Given the description of an element on the screen output the (x, y) to click on. 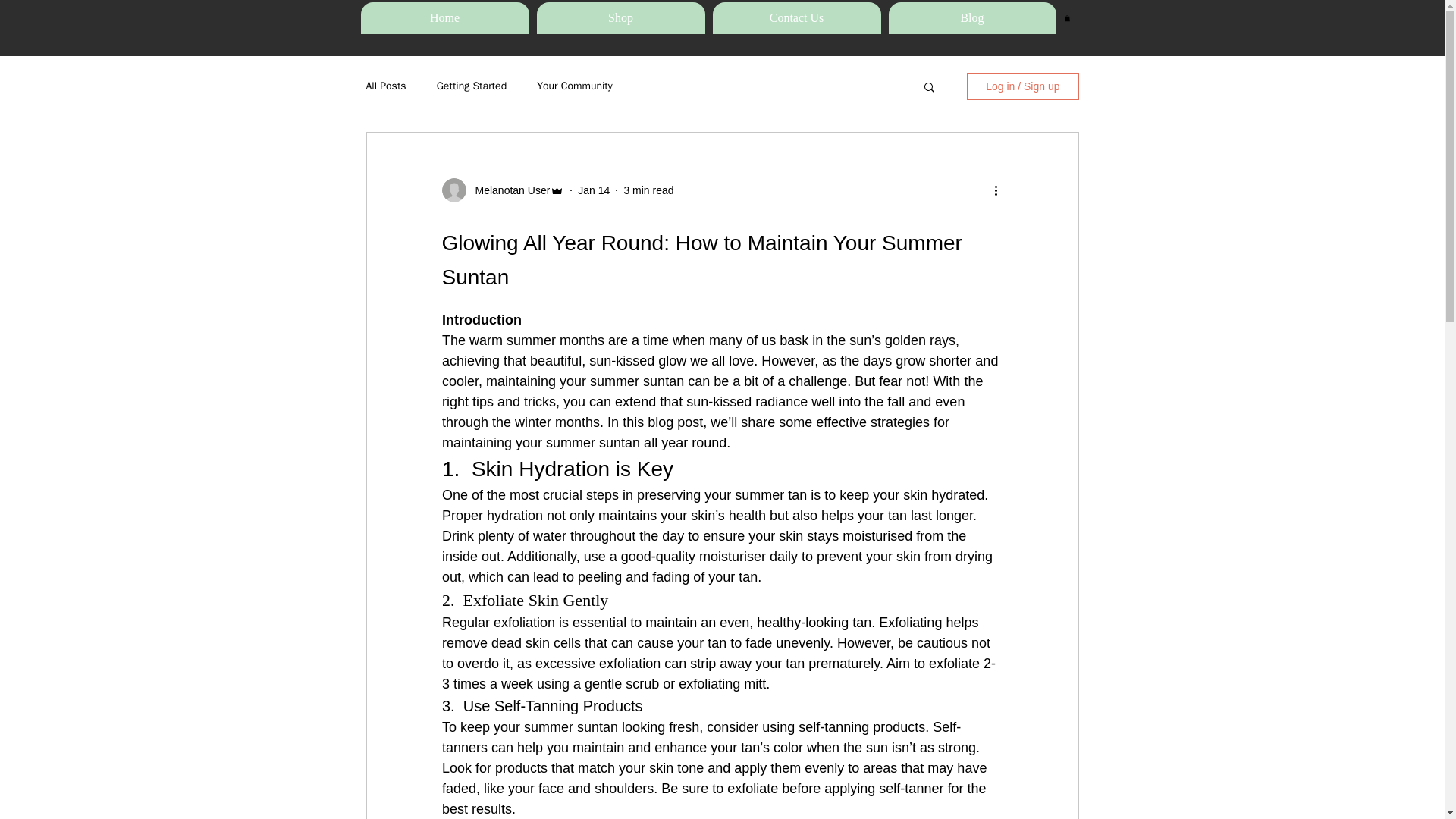
All Posts (385, 86)
Home (445, 18)
Contact Us (796, 18)
Melanotan User (507, 189)
Your Community (574, 86)
Getting Started (471, 86)
Jan 14 (594, 189)
Blog (972, 18)
Shop (620, 18)
3 min read (647, 189)
